Given the description of an element on the screen output the (x, y) to click on. 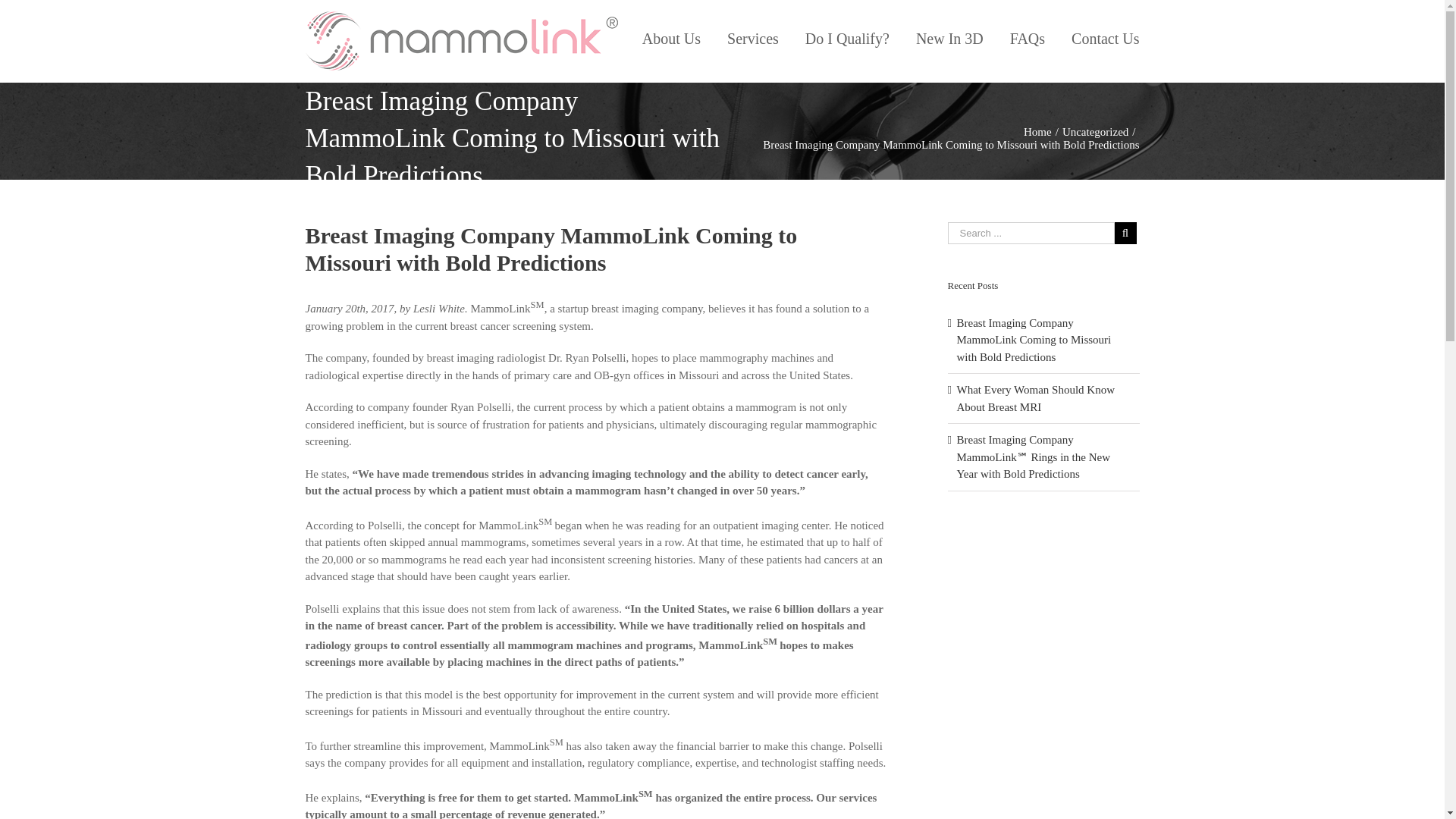
What Every Woman Should Know About Breast MRI (1035, 398)
Uncategorized (1095, 132)
Home (1037, 132)
Do I Qualify? (847, 38)
